Given the description of an element on the screen output the (x, y) to click on. 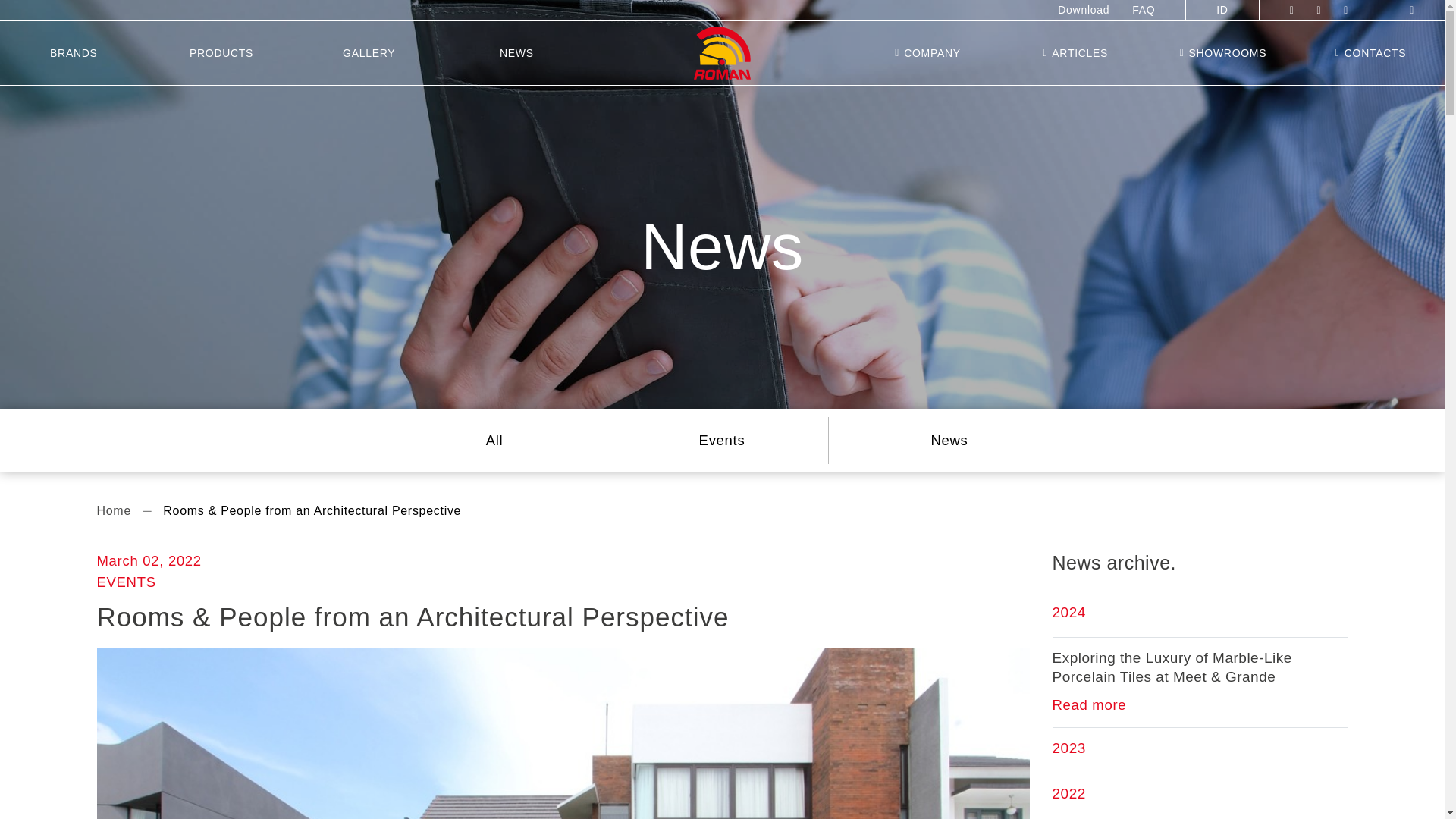
ID (1222, 10)
SHOWROOMS (1223, 53)
GALLERY (368, 53)
FAQ (1143, 10)
NEWS (516, 53)
COMPANY (927, 53)
Download (1083, 10)
ARTICLES (1075, 53)
CONTACTS (1370, 53)
PRODUCTS (221, 53)
BRANDS (74, 53)
